Given the description of an element on the screen output the (x, y) to click on. 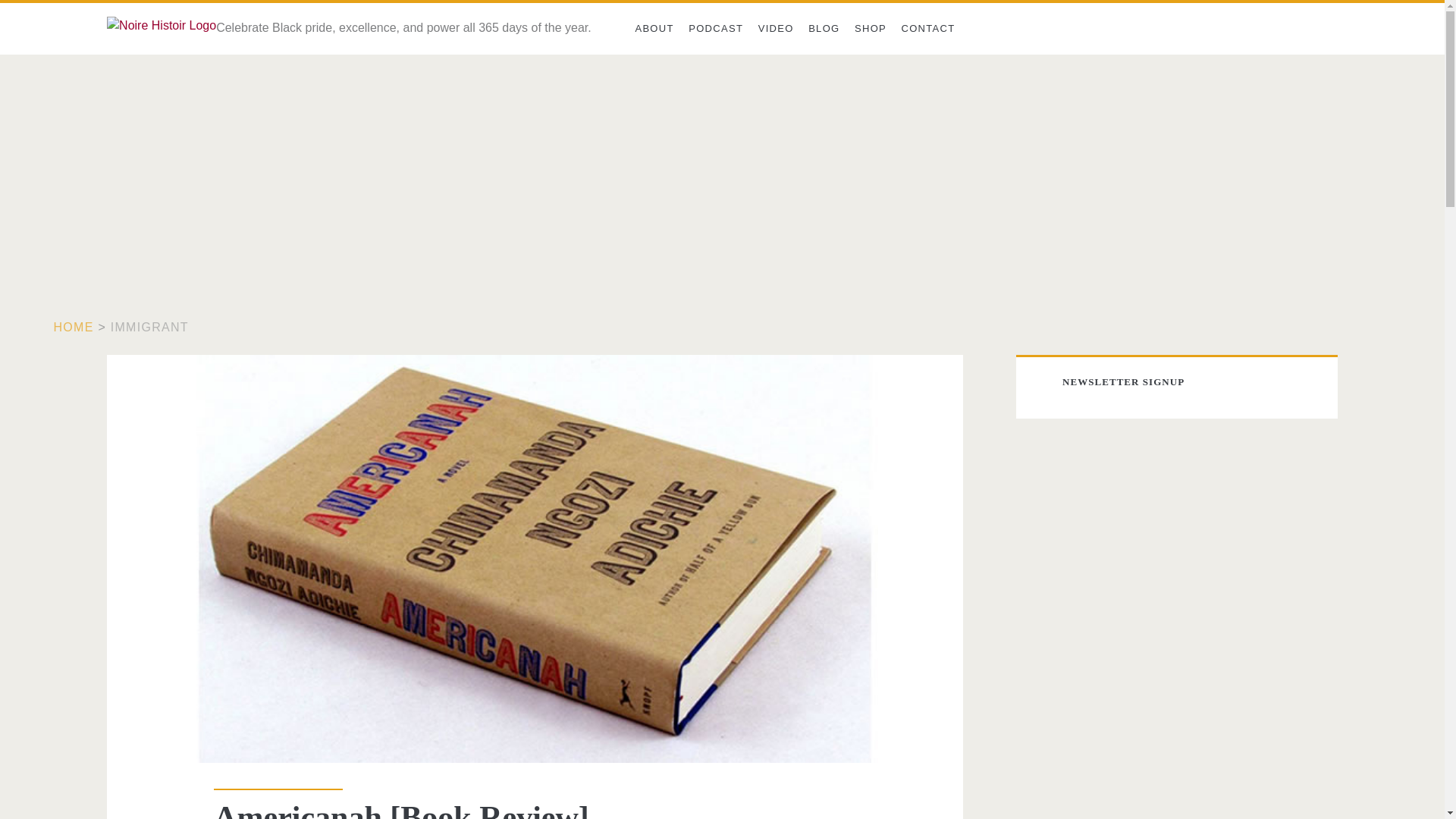
ABOUT (654, 28)
BLOG (823, 28)
SHOP (870, 28)
PODCAST (715, 28)
Home (73, 327)
HOME (73, 327)
CONTACT (927, 28)
VIDEO (775, 28)
